Given the description of an element on the screen output the (x, y) to click on. 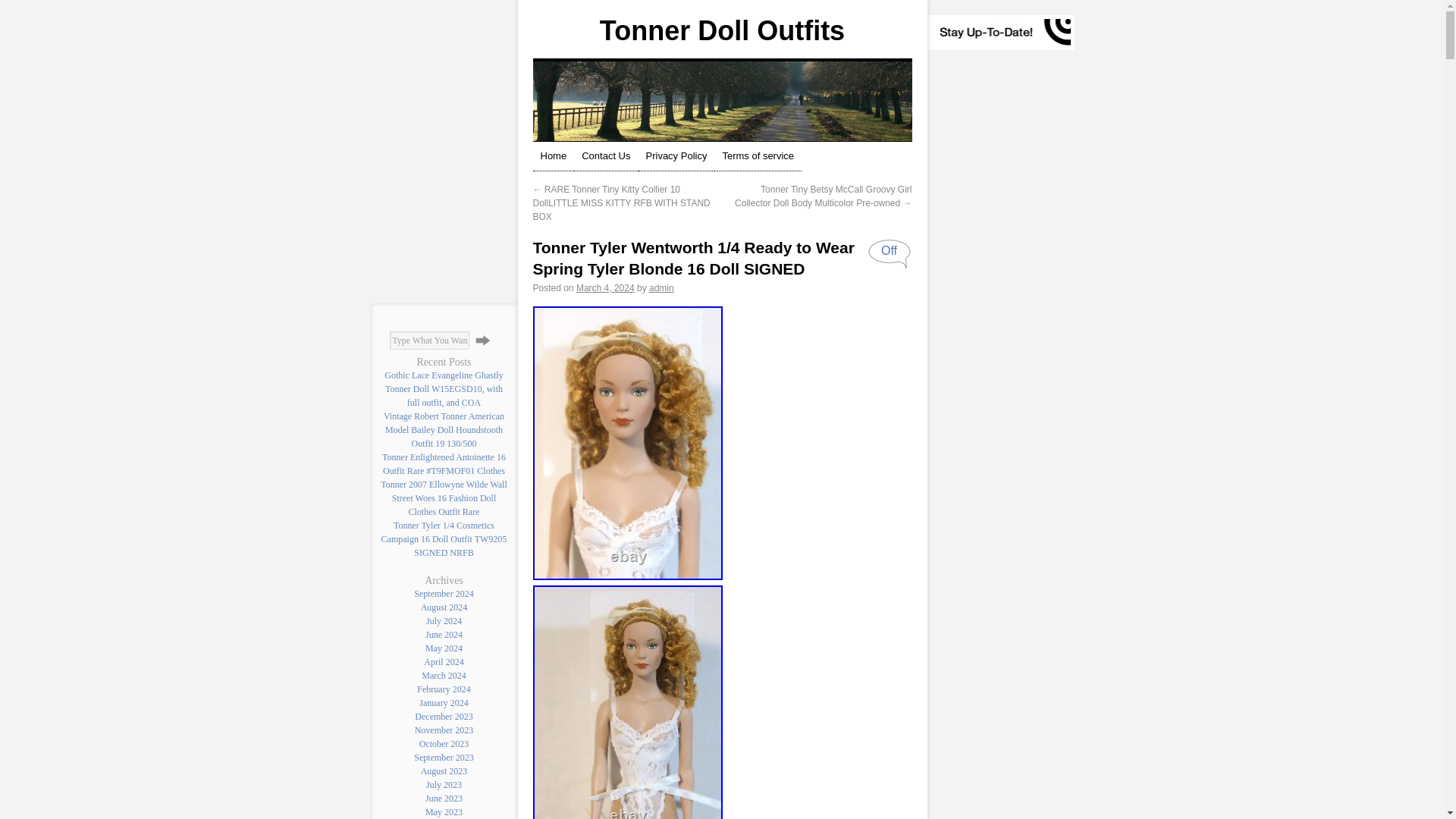
6:20 am (605, 287)
July 2024 (443, 620)
August 2024 (443, 606)
Search (483, 340)
April 2024 (443, 661)
Tonner Doll Outfits (721, 30)
March 2024 (443, 675)
View all posts by admin (661, 287)
Search (483, 340)
